Given the description of an element on the screen output the (x, y) to click on. 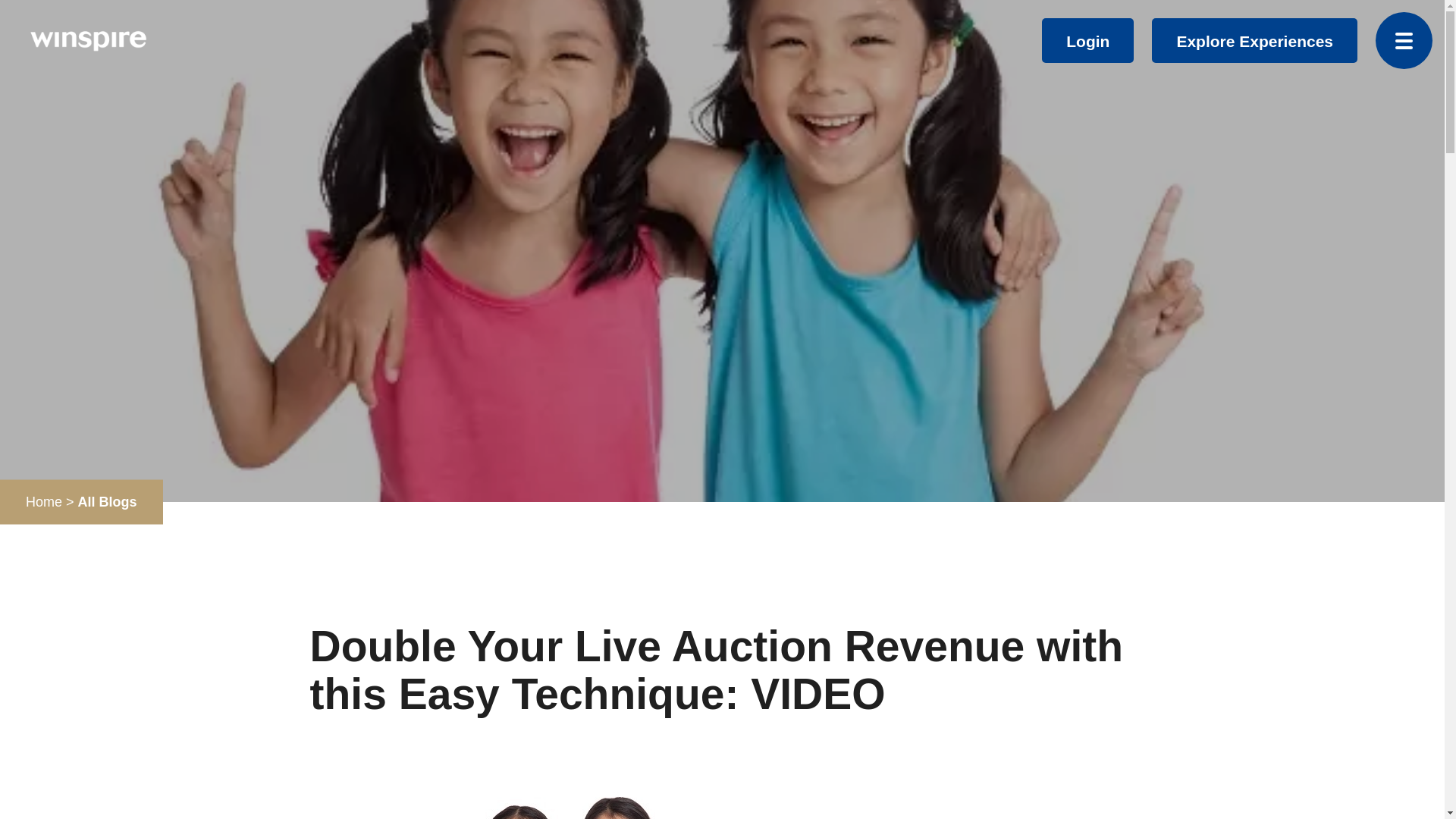
Home (44, 501)
Login (1088, 40)
Explore Experiences (1253, 40)
All Blogs (107, 501)
